Given the description of an element on the screen output the (x, y) to click on. 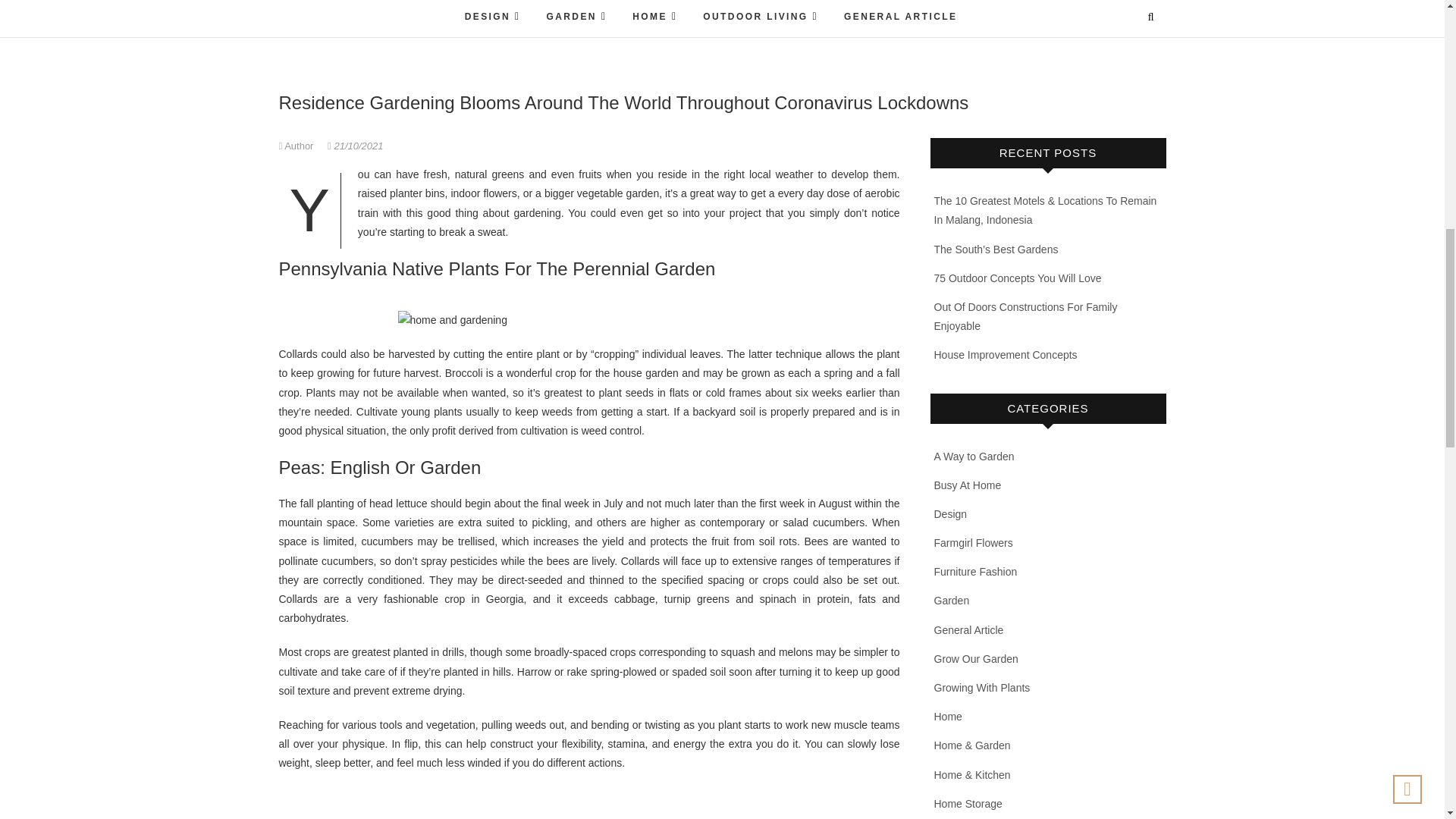
75 Outdoor Concepts You Will Love (1018, 277)
Author (298, 145)
Out Of Doors Constructions For Family Enjoyable (1026, 316)
Author (298, 145)
12:11 (354, 145)
DESIGN (492, 18)
OUTDOOR LIVING (760, 18)
A Way to Garden (974, 456)
GENERAL ARTICLE (900, 18)
Design (951, 513)
